Given the description of an element on the screen output the (x, y) to click on. 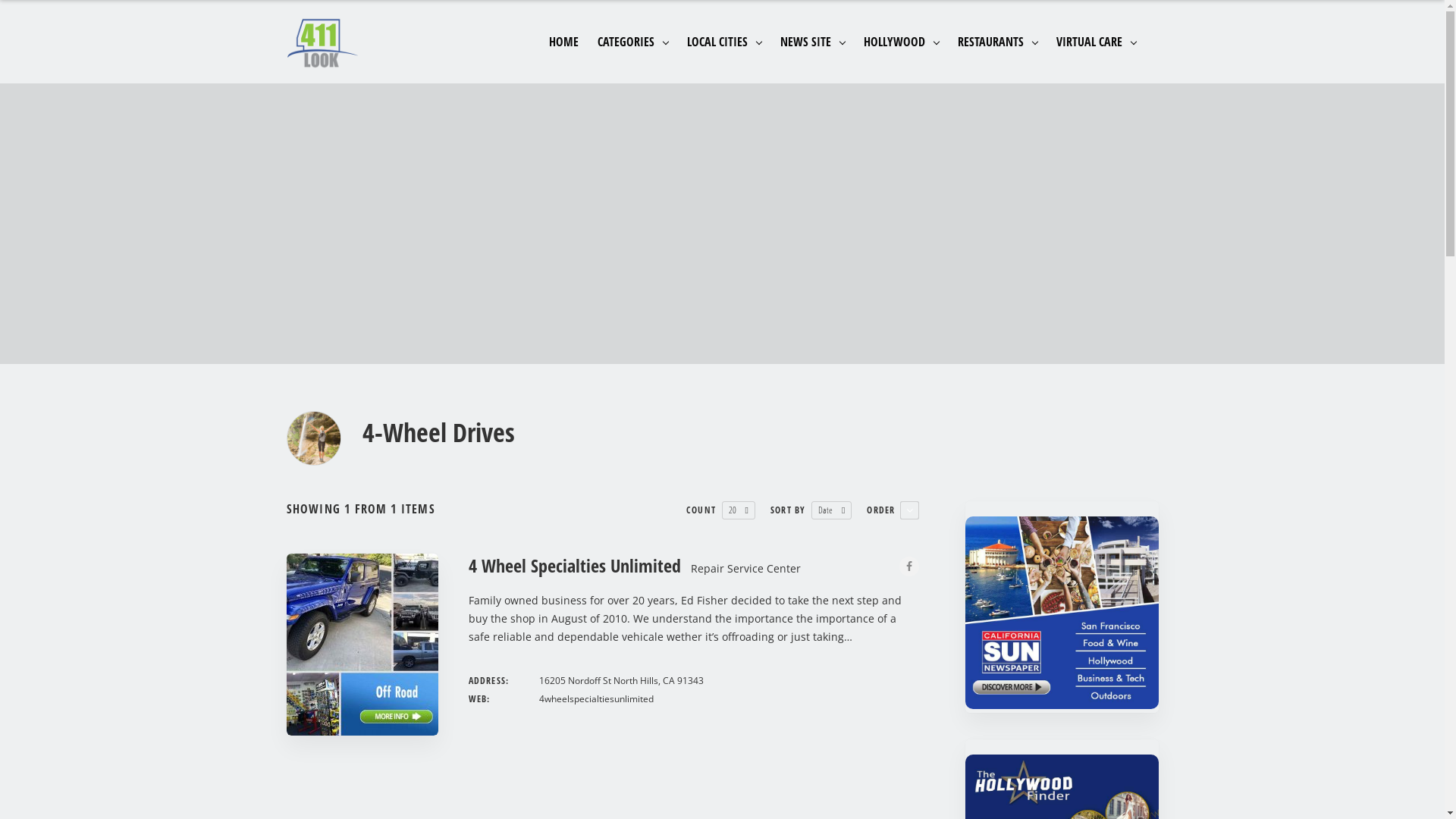
VIRTUAL CARE Element type: text (1095, 57)
4wheelspecialtiesunlimited Element type: text (595, 698)
4 Wheel Specialties Unlimited Element type: text (574, 565)
ASC Element type: hover (909, 510)
411Look Element type: hover (322, 43)
NEWS SITE Element type: text (811, 57)
HOME Element type: text (563, 57)
20 Element type: text (731, 510)
HOLLYWOOD Element type: text (900, 57)
RESTAURANTS Element type: text (996, 57)
CATEGORIES Element type: text (632, 57)
LOCAL CITIES Element type: text (724, 57)
Date Element type: text (824, 510)
